Given the description of an element on the screen output the (x, y) to click on. 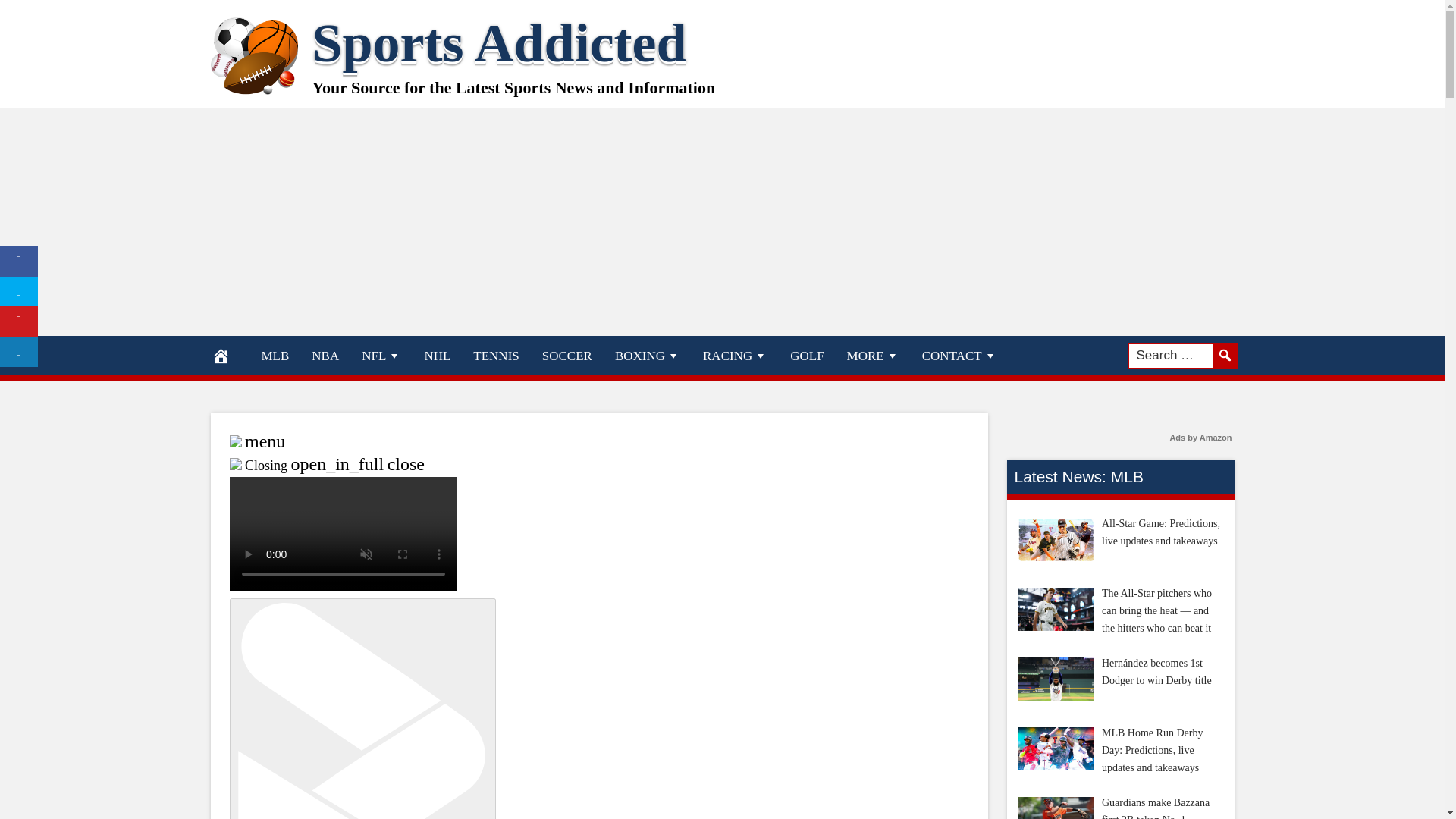
NHL (436, 355)
NFL (381, 355)
NBA (324, 355)
Sports Addicted (500, 43)
MLB (275, 355)
